Given the description of an element on the screen output the (x, y) to click on. 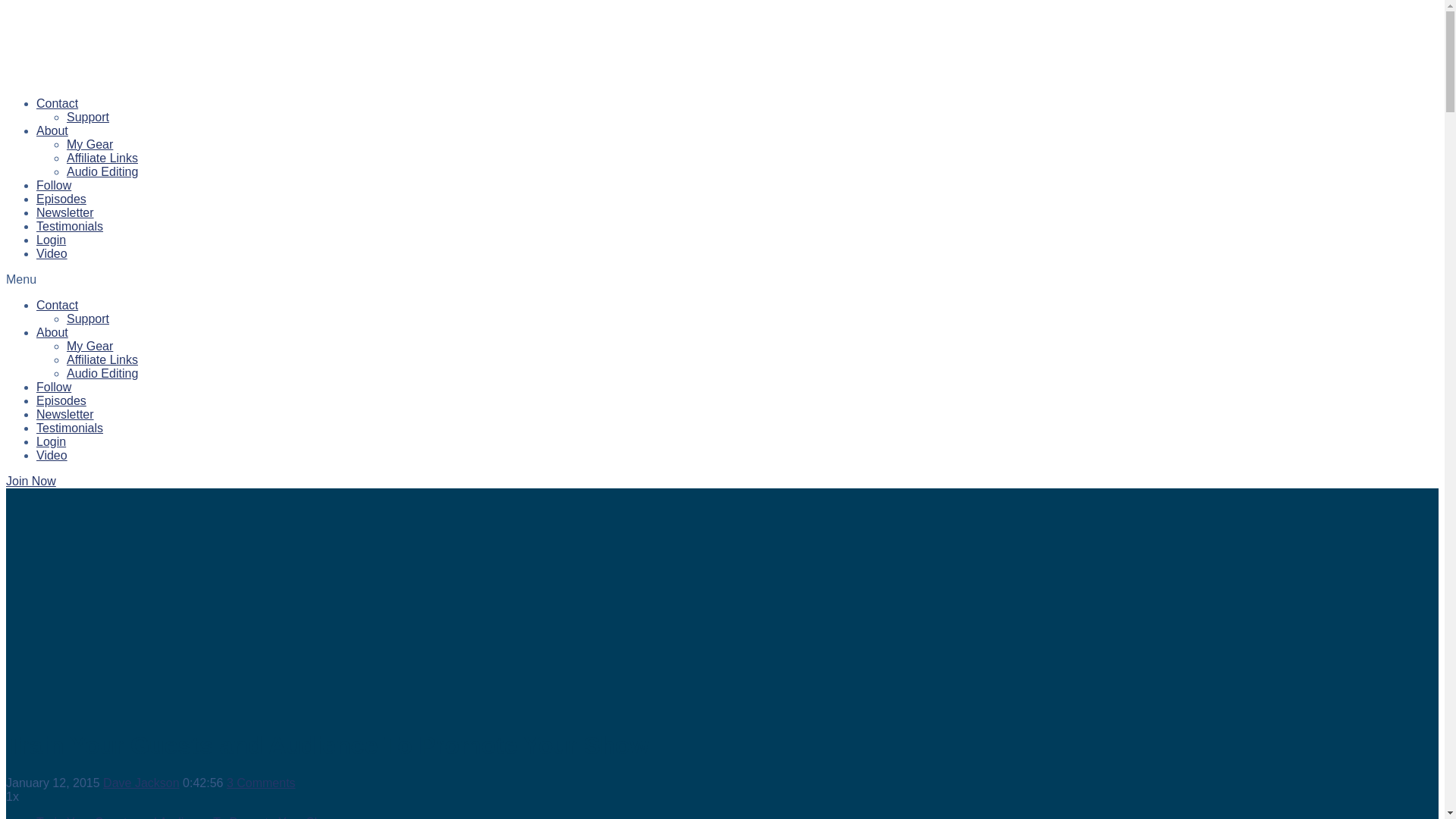
About (52, 130)
My Gear (89, 345)
Support the Show (87, 318)
3 Comments (261, 782)
Audio Editing (102, 171)
Subscribe and Follow (53, 185)
Testimonials (69, 427)
Follow (53, 386)
Testimonials (69, 226)
Follow (53, 185)
Login Page For Members of the School of Podcasting (50, 440)
Login (50, 239)
Affiliate Links (102, 359)
Join Now (30, 481)
Support (87, 318)
